Given the description of an element on the screen output the (x, y) to click on. 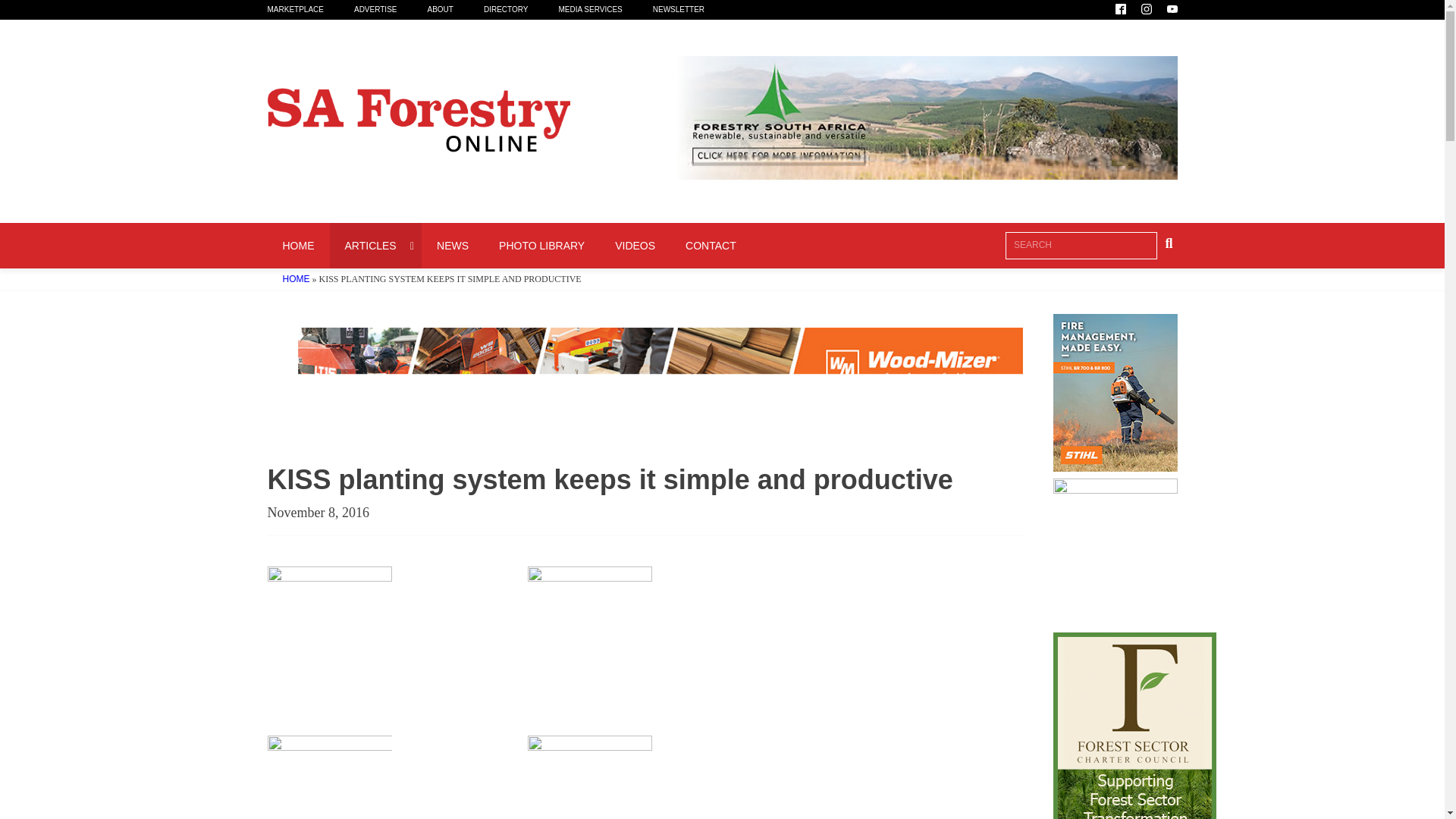
DIRECTORY (521, 9)
NEWSLETTER (693, 9)
ARTICLES (375, 245)
HOME (297, 245)
MEDIA SERVICES (604, 9)
NEWS (452, 245)
ABOUT (454, 9)
MARKETPLACE (309, 9)
ADVERTISE (508, 245)
